Given the description of an element on the screen output the (x, y) to click on. 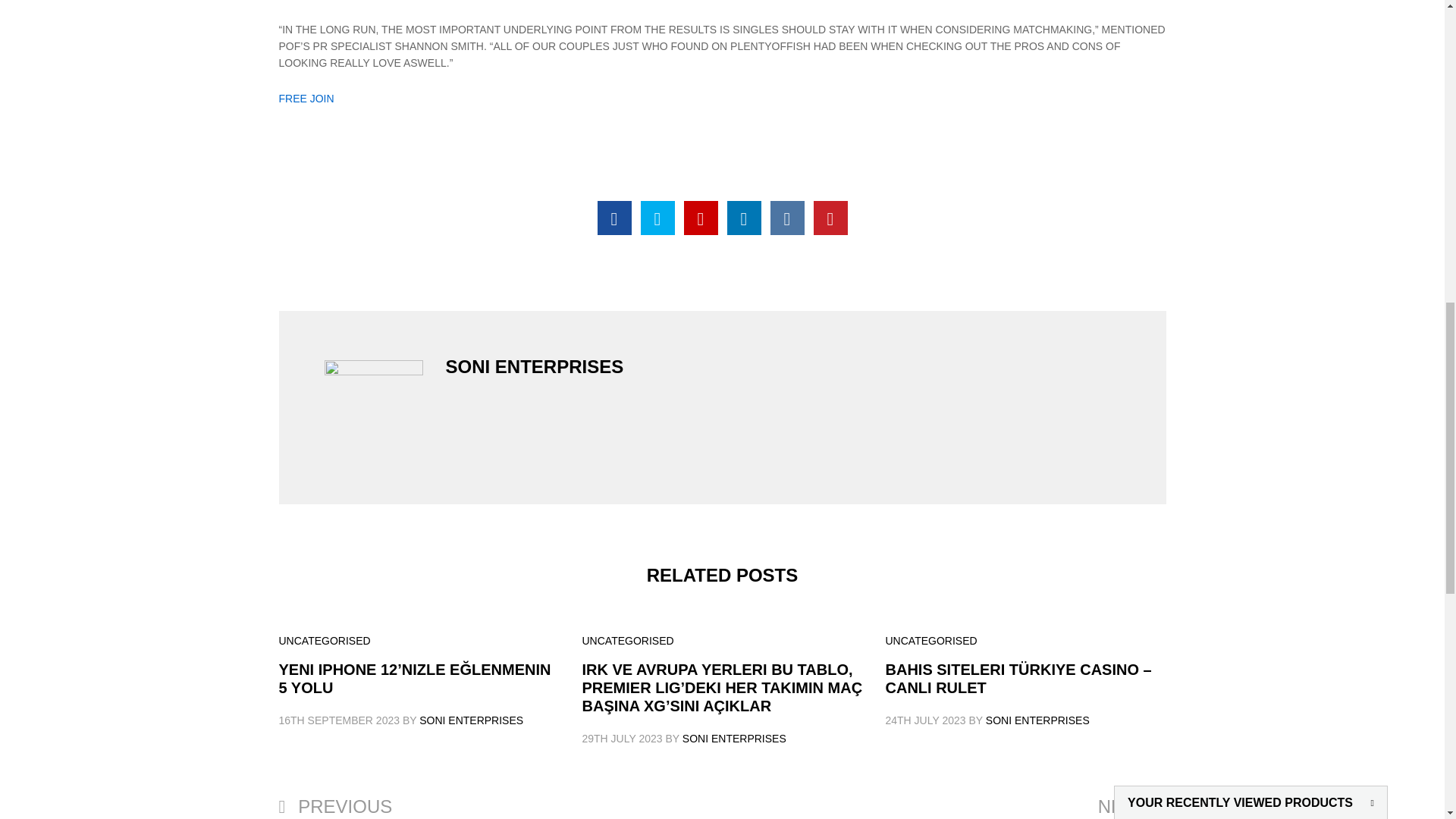
UNCATEGORISED (325, 640)
24TH JULY 2023 (925, 720)
FREE JOIN (306, 98)
UNCATEGORISED (930, 640)
SONI ENTERPRISES (734, 738)
16TH SEPTEMBER 2023 (339, 720)
SONI ENTERPRISES (1037, 720)
29TH JULY 2023 (622, 738)
SONI ENTERPRISES (470, 720)
UNCATEGORISED (628, 640)
